Given the description of an element on the screen output the (x, y) to click on. 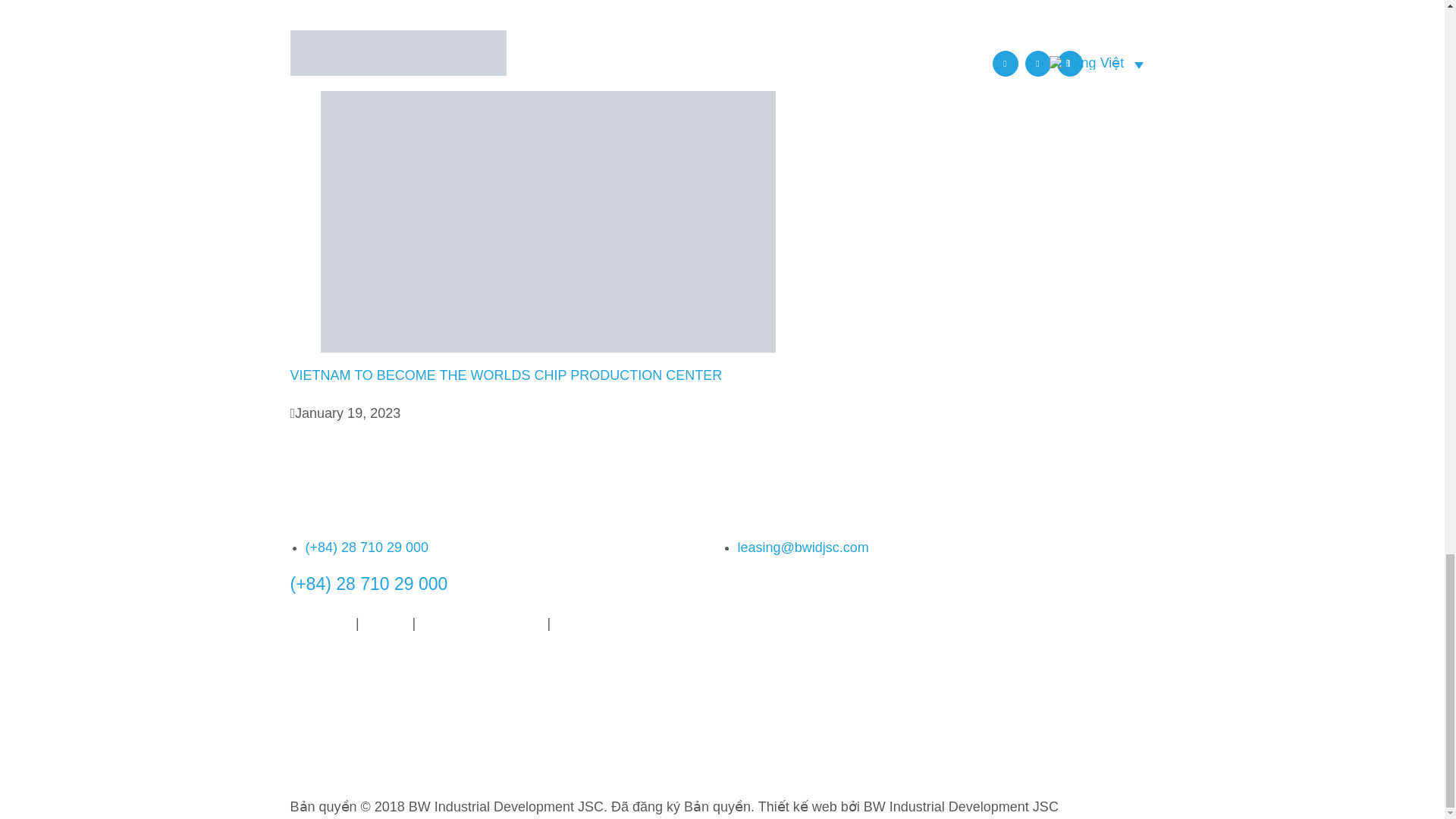
VIETNAM TO BECOME THE WORLDS CHIP PRODUCTION CENTER (505, 375)
VIETNAM TO BECOME THE WORLDS CHIP PRODUCTION CENTER (505, 375)
